Given the description of an element on the screen output the (x, y) to click on. 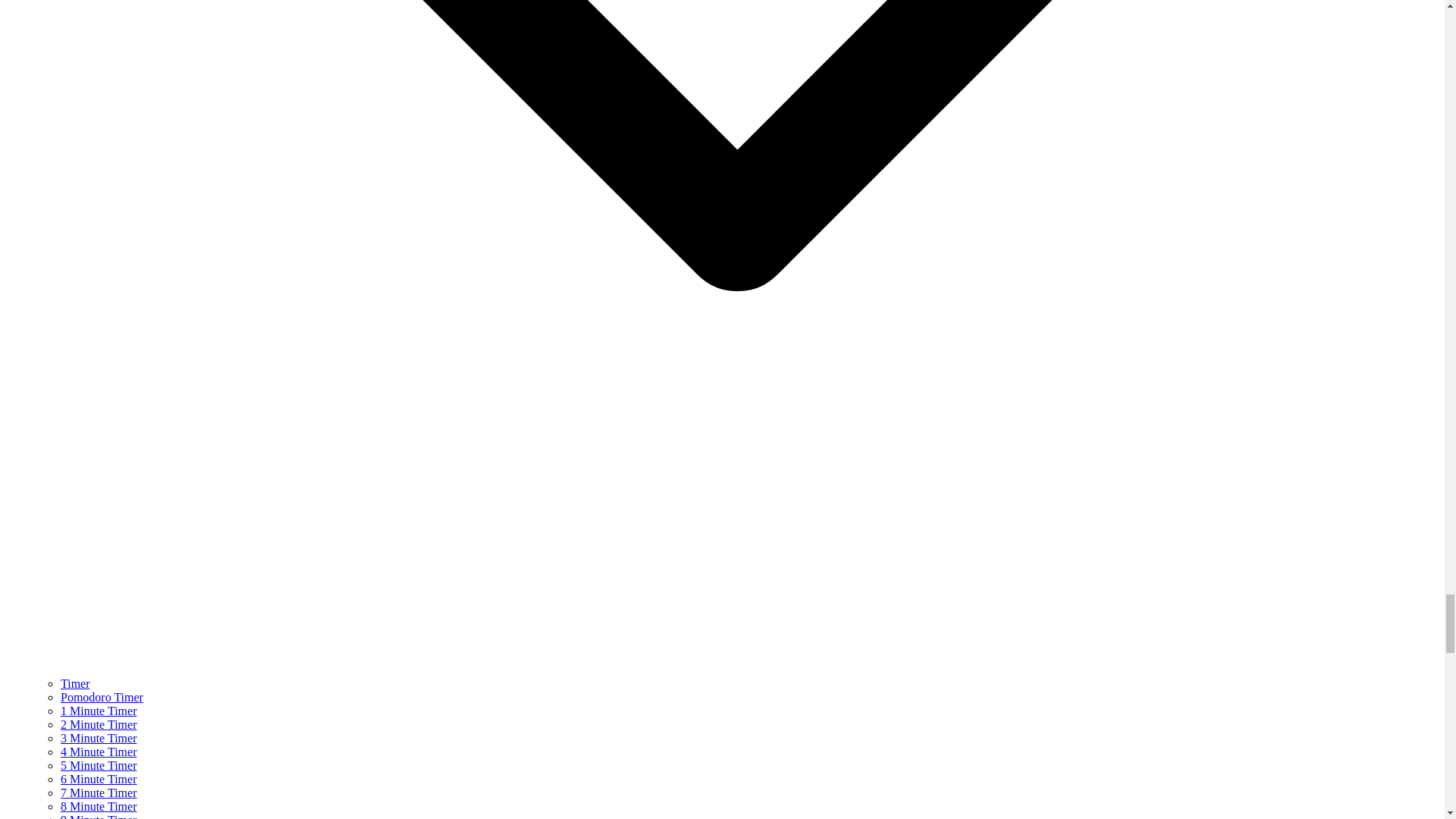
4 Minute Timer (98, 751)
8 Minute Timer (98, 806)
2 Minute Timer (98, 724)
6 Minute Timer (98, 779)
1 Minute Timer (98, 710)
3 Minute Timer (98, 738)
Timer (75, 683)
5 Minute Timer (98, 765)
7 Minute Timer (98, 792)
9 Minute Timer (98, 816)
Pomodoro Timer (101, 697)
